Given the description of an element on the screen output the (x, y) to click on. 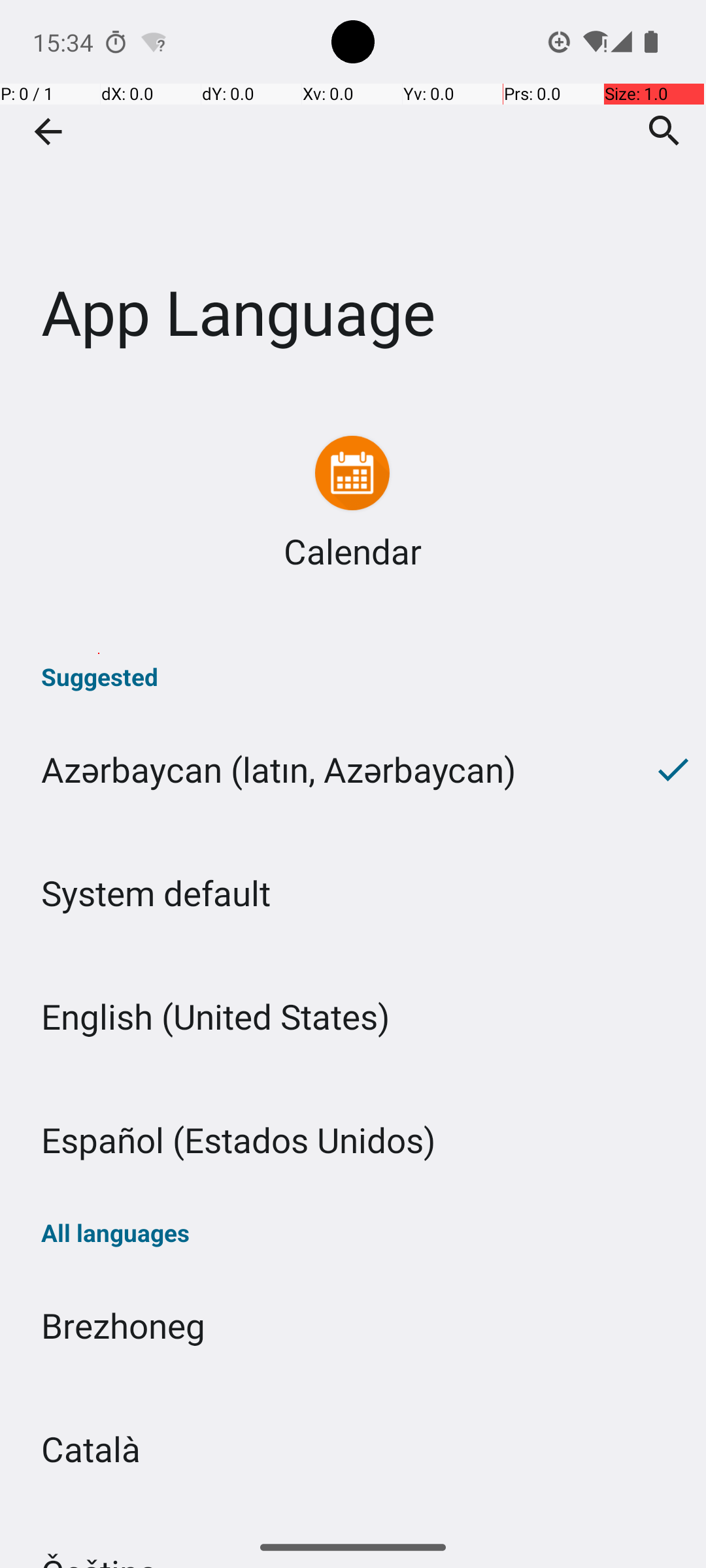
Azərbaycan (latın, Azərbaycan) Element type: android.widget.TextView (320, 769)
